Given the description of an element on the screen output the (x, y) to click on. 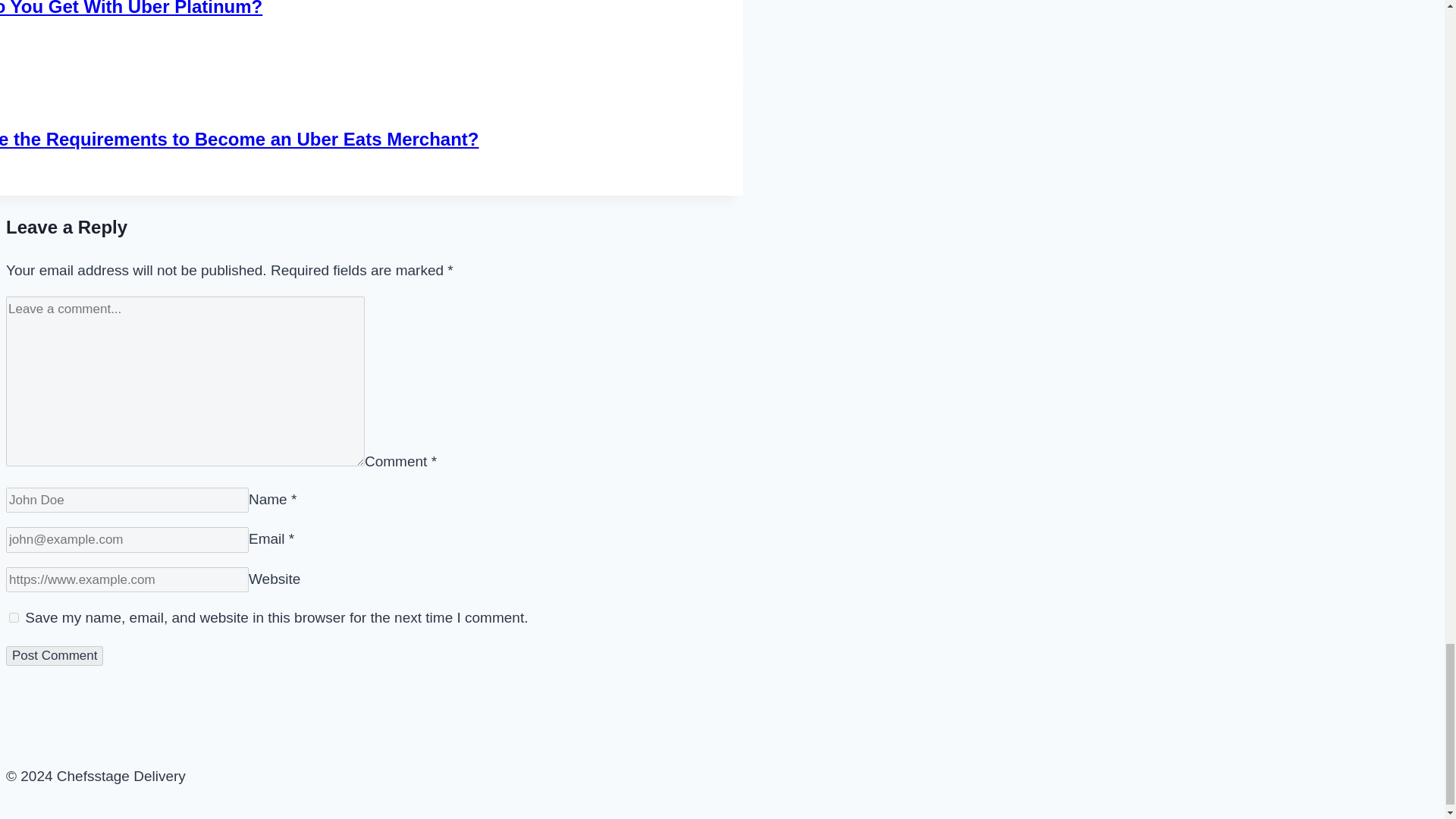
What are the Requirements to Become an Uber Eats Merchant? (239, 138)
yes (13, 617)
Post Comment (54, 655)
What Do You Get With Uber Platinum? (131, 8)
Post Comment (54, 655)
